Given the description of an element on the screen output the (x, y) to click on. 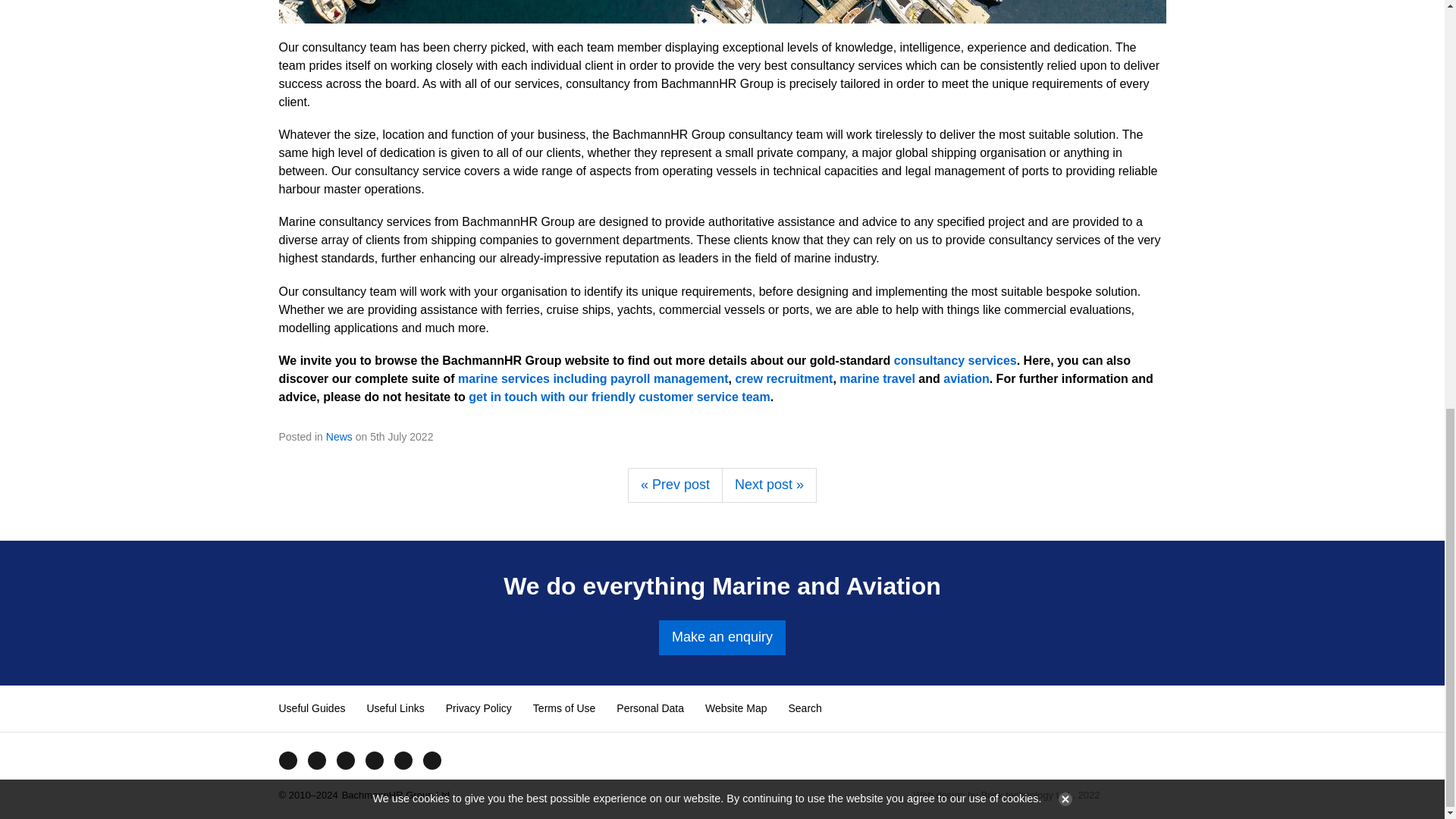
YouTube (344, 760)
Newsletter (430, 760)
Website designed and maintained by Brick technology Ltd. (1139, 794)
Twitter (315, 760)
Instagram (373, 760)
LinkedIn (402, 760)
Facebook (287, 760)
